Given the description of an element on the screen output the (x, y) to click on. 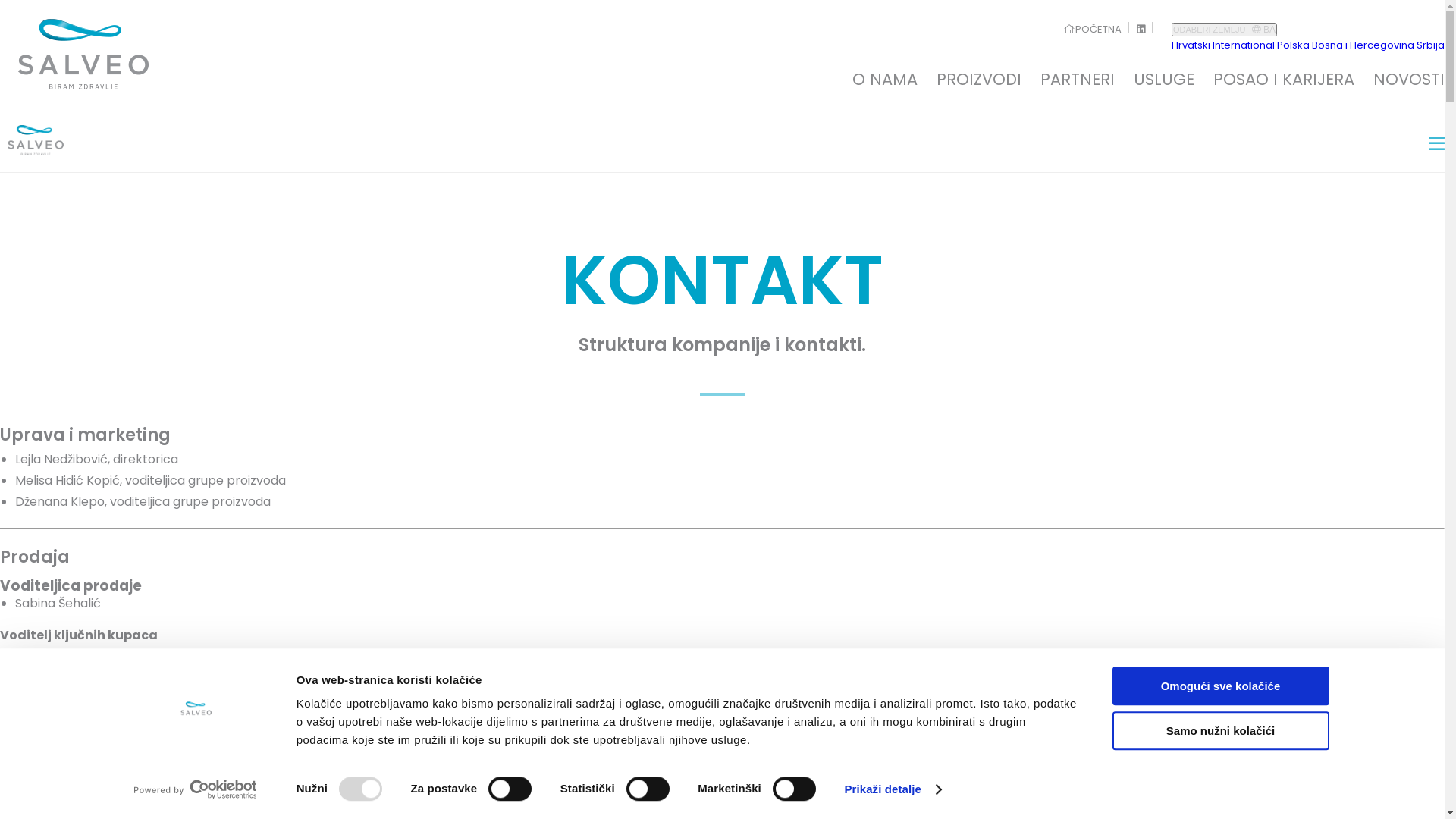
PROIZVODI Element type: text (978, 90)
POSAO I KARIJERA Element type: text (1283, 90)
USLUGE Element type: text (1163, 90)
Hrvatski Element type: text (1190, 44)
Polska Element type: text (1293, 44)
Srbija Element type: text (1430, 44)
O NAMA Element type: text (884, 90)
NOVOSTI Element type: text (1408, 90)
Bosna i Hercegovina Element type: text (1362, 44)
International Element type: text (1243, 44)
PARTNERI Element type: text (1077, 90)
ODABERI ZEMLJU BA Element type: text (1224, 29)
